Given the description of an element on the screen output the (x, y) to click on. 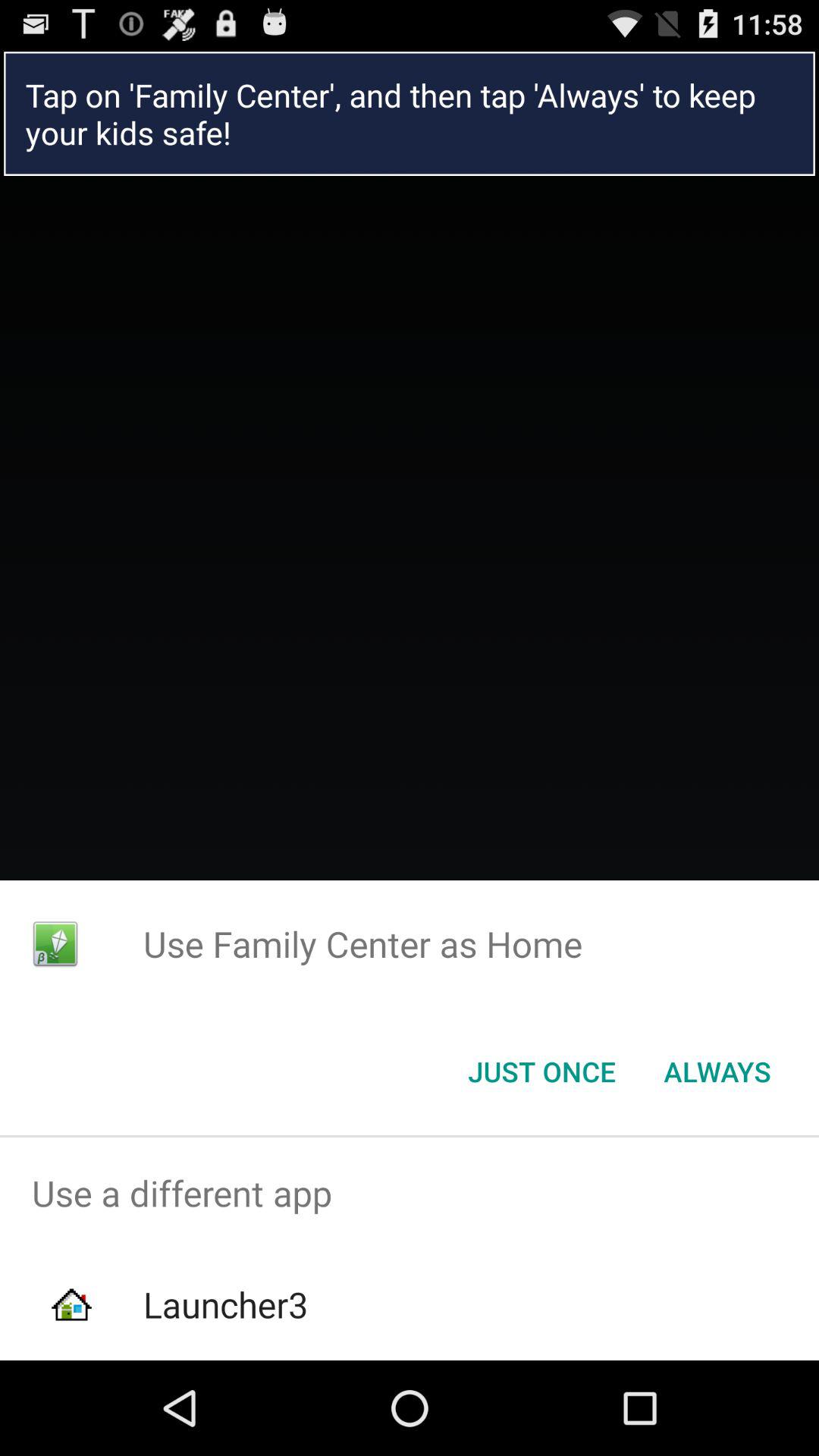
jump to just once (541, 1071)
